Given the description of an element on the screen output the (x, y) to click on. 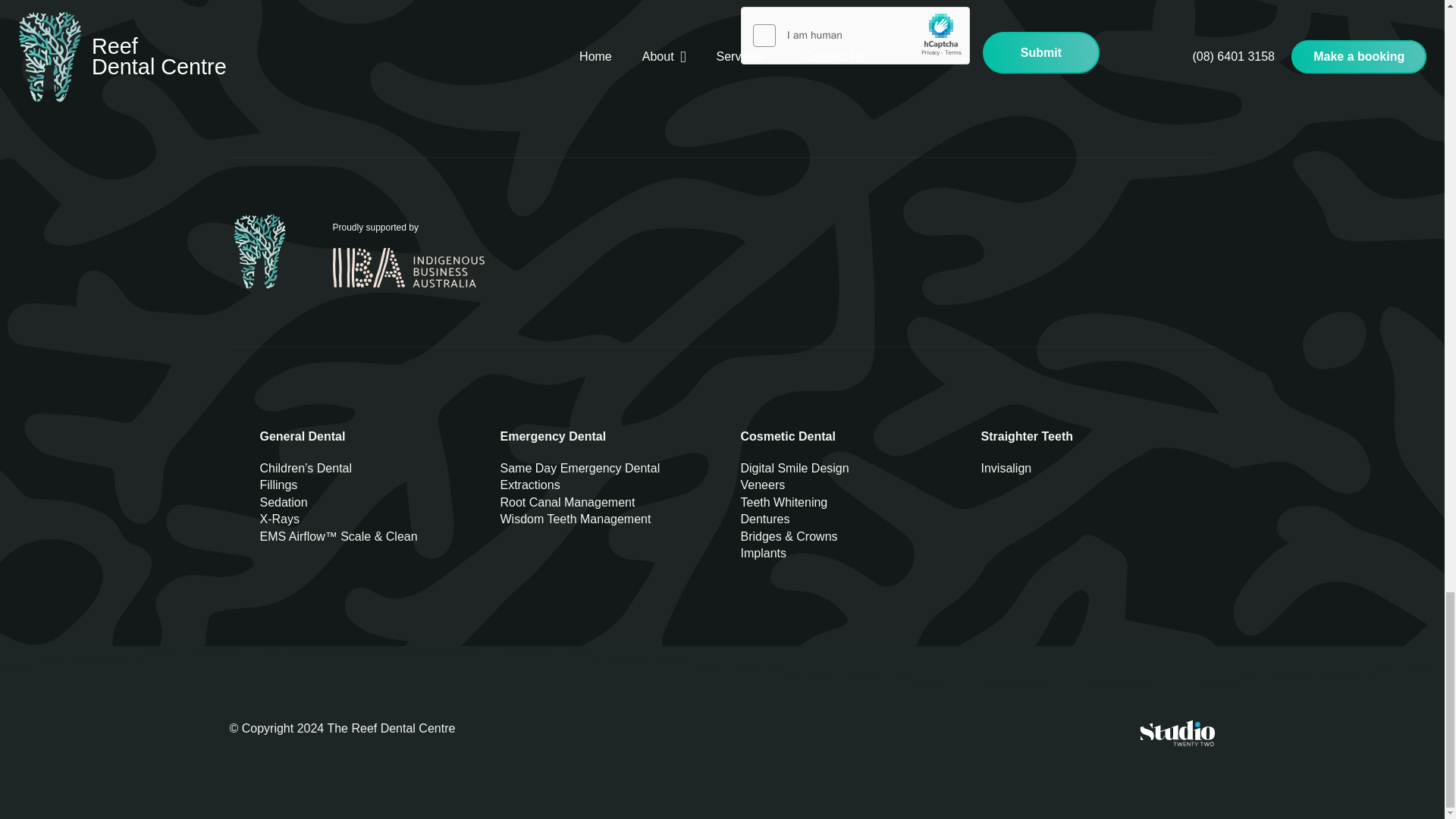
Widget containing checkbox for hCaptcha security challenge (854, 36)
Submit (1040, 52)
